Given the description of an element on the screen output the (x, y) to click on. 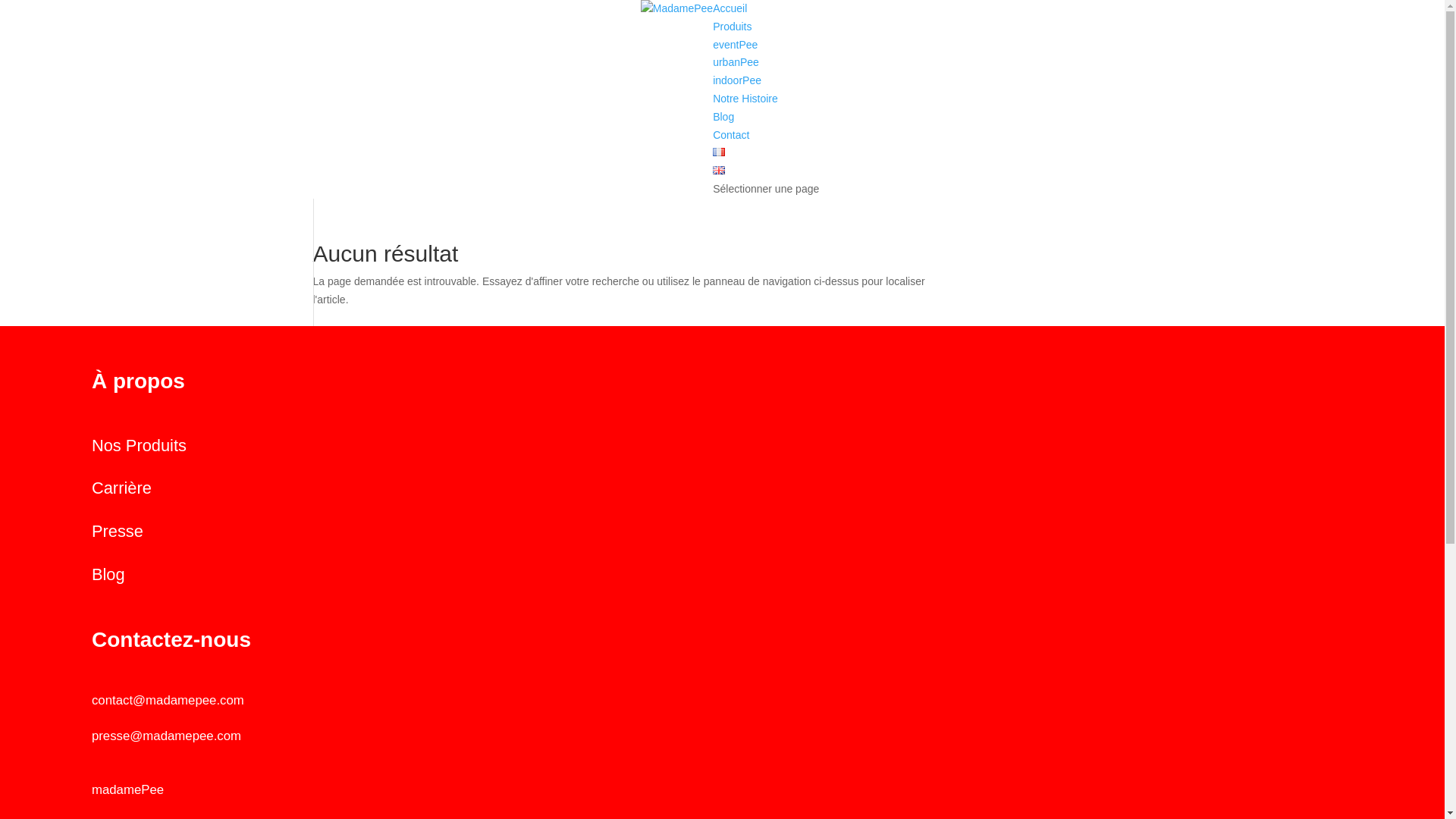
Presse (116, 530)
Produits (732, 26)
Accueil (729, 8)
Notre Histoire (745, 98)
Carriere (121, 487)
indoorPee (737, 80)
Presse (116, 530)
Contact (731, 134)
eventPee (735, 44)
Nos Produits (138, 444)
